Given the description of an element on the screen output the (x, y) to click on. 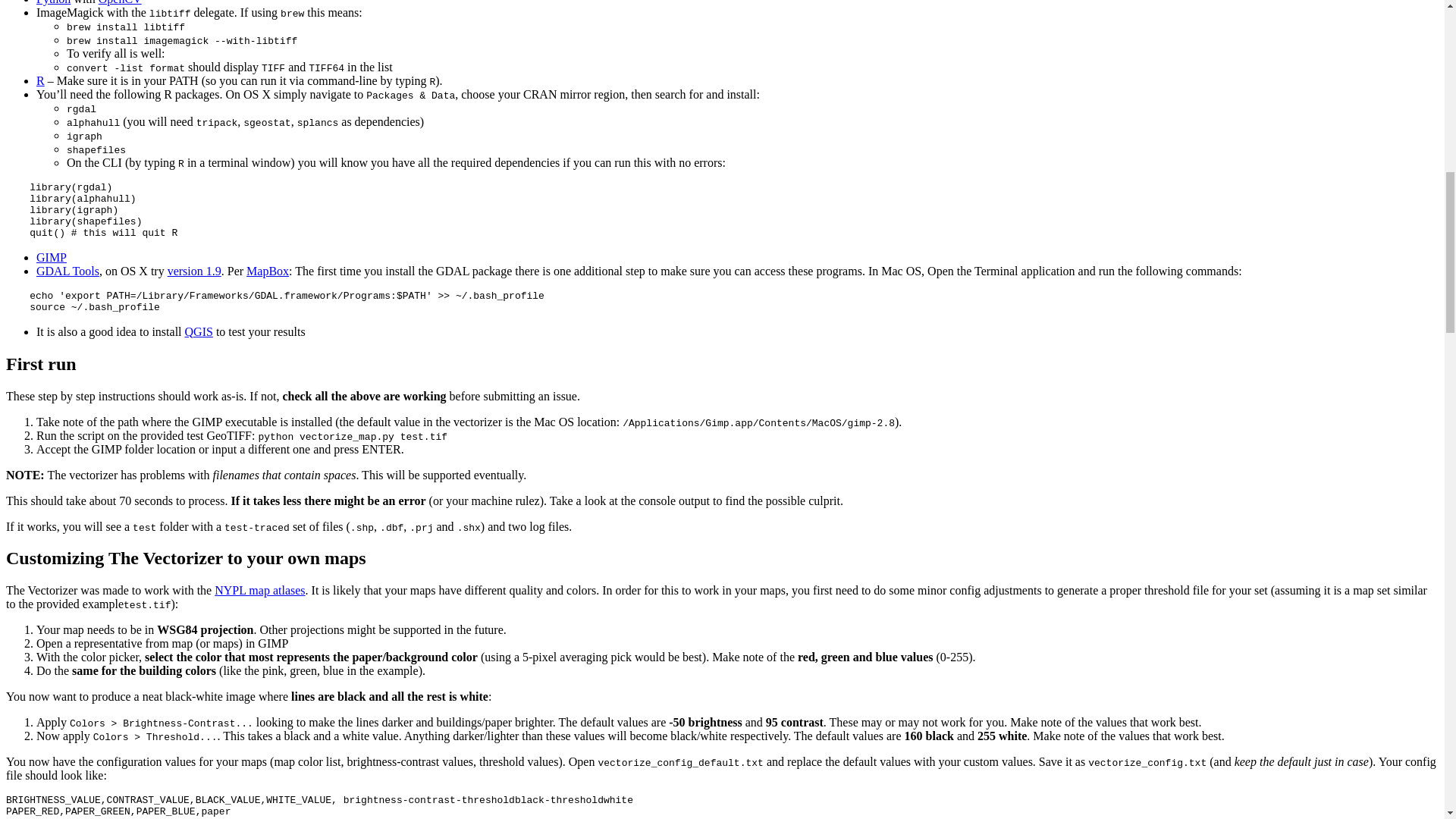
Python (52, 2)
GIMP (51, 256)
OpenCV (120, 2)
